Given the description of an element on the screen output the (x, y) to click on. 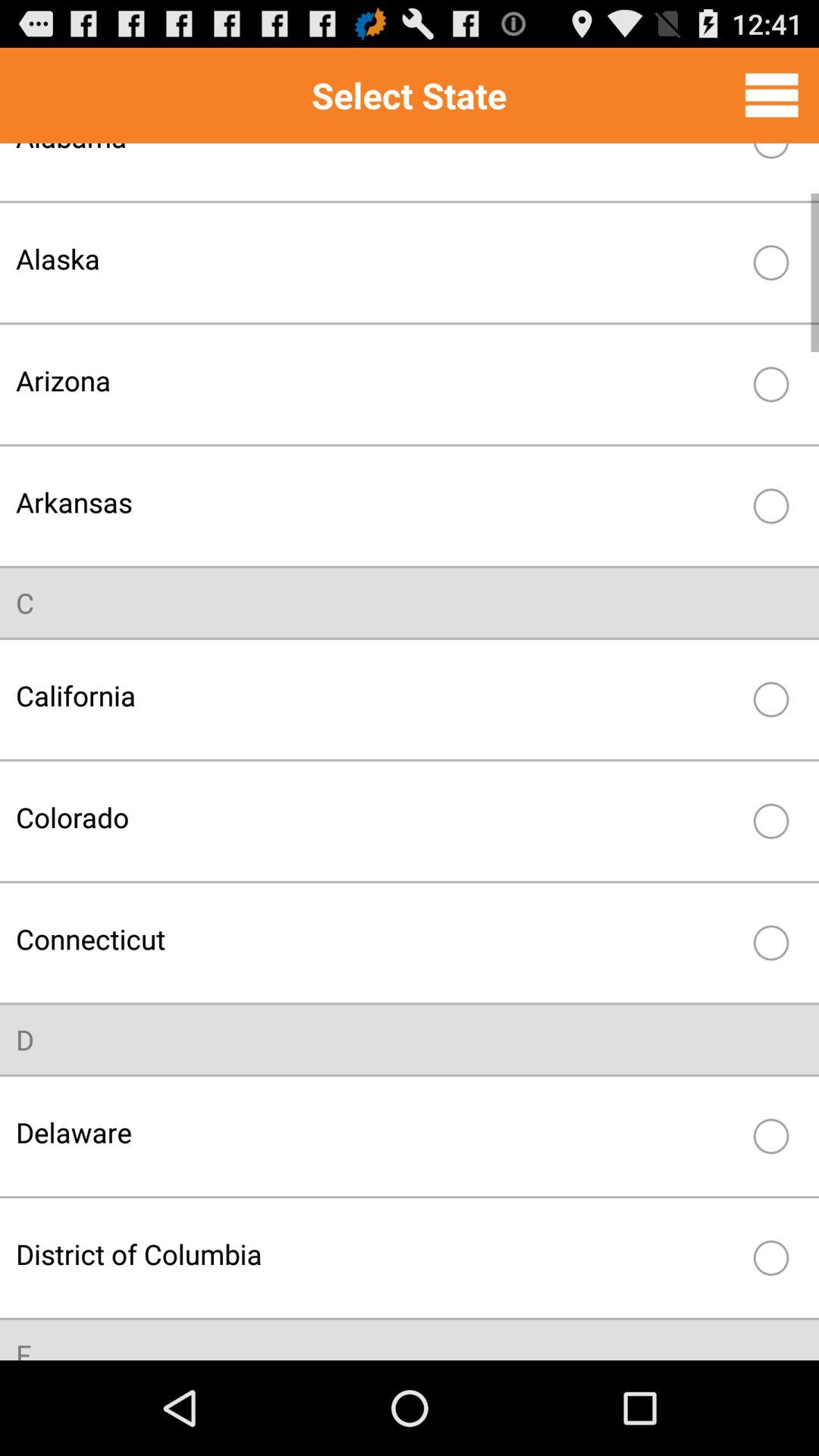
menu options (771, 95)
